Given the description of an element on the screen output the (x, y) to click on. 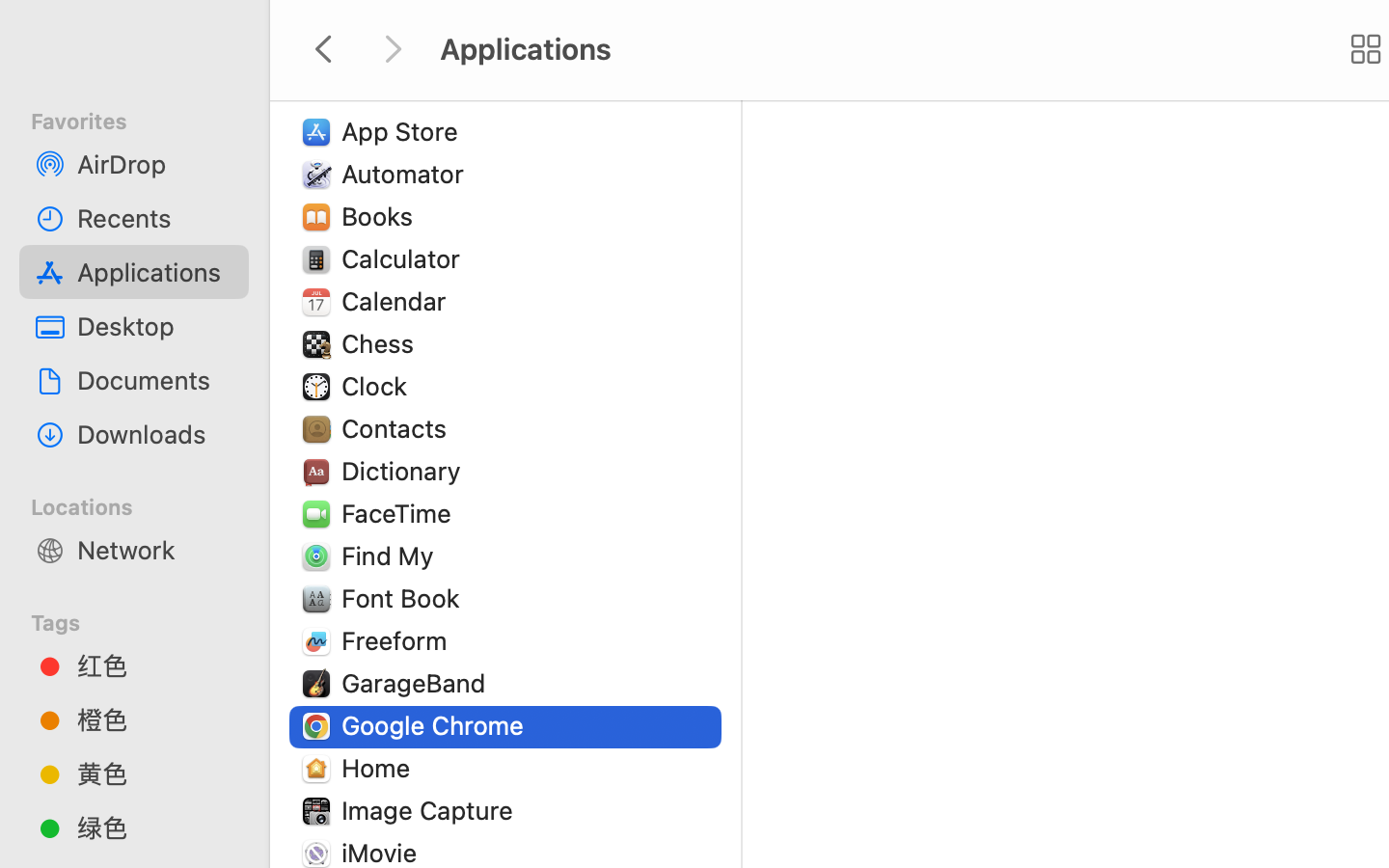
Tags Element type: AXStaticText (145, 619)
Google Chrome Element type: AXTextField (436, 724)
Clock Element type: AXTextField (378, 385)
Favorites Element type: AXStaticText (145, 118)
Books Element type: AXTextField (381, 215)
